Given the description of an element on the screen output the (x, y) to click on. 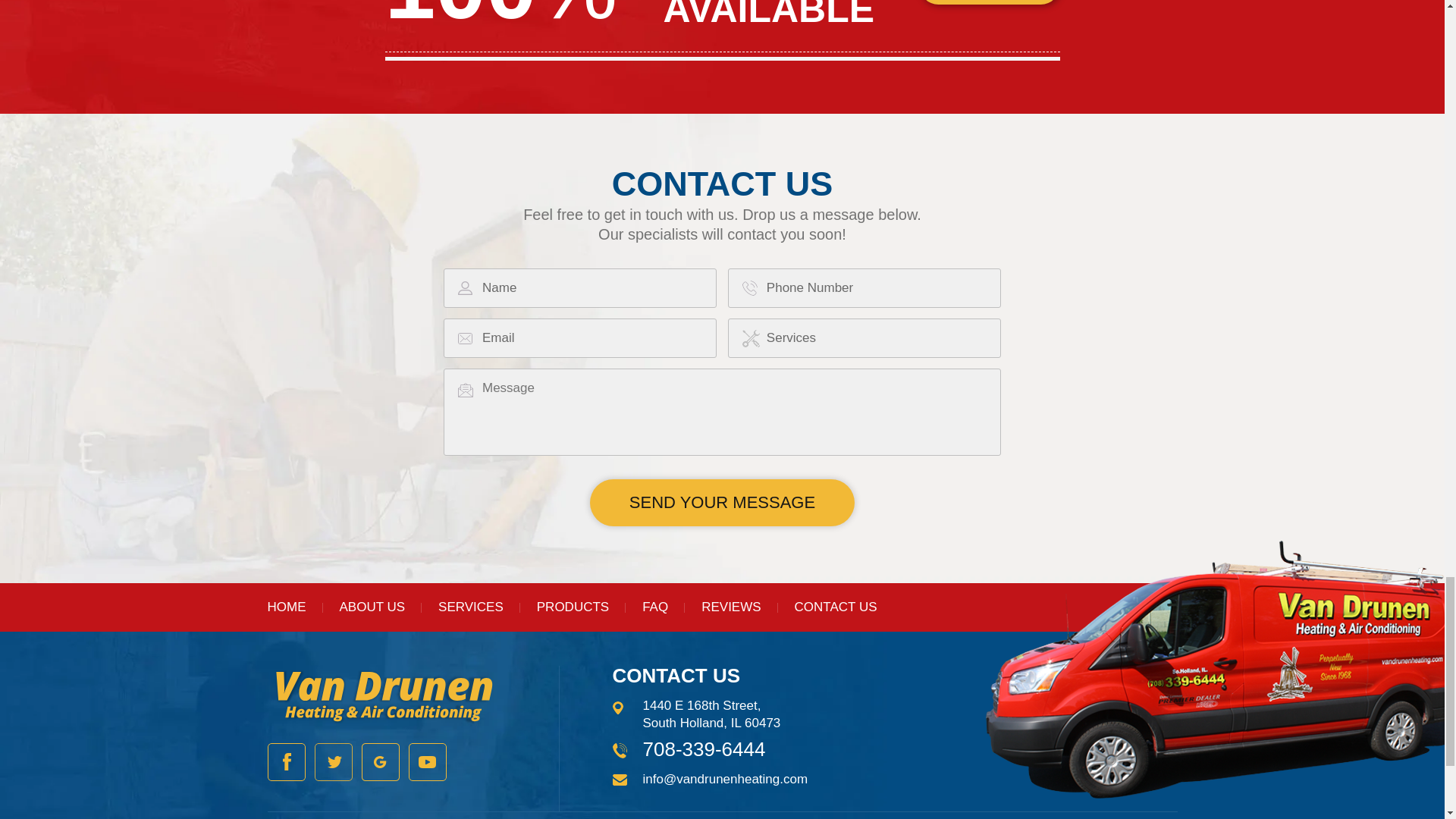
Send your message (721, 502)
